Given the description of an element on the screen output the (x, y) to click on. 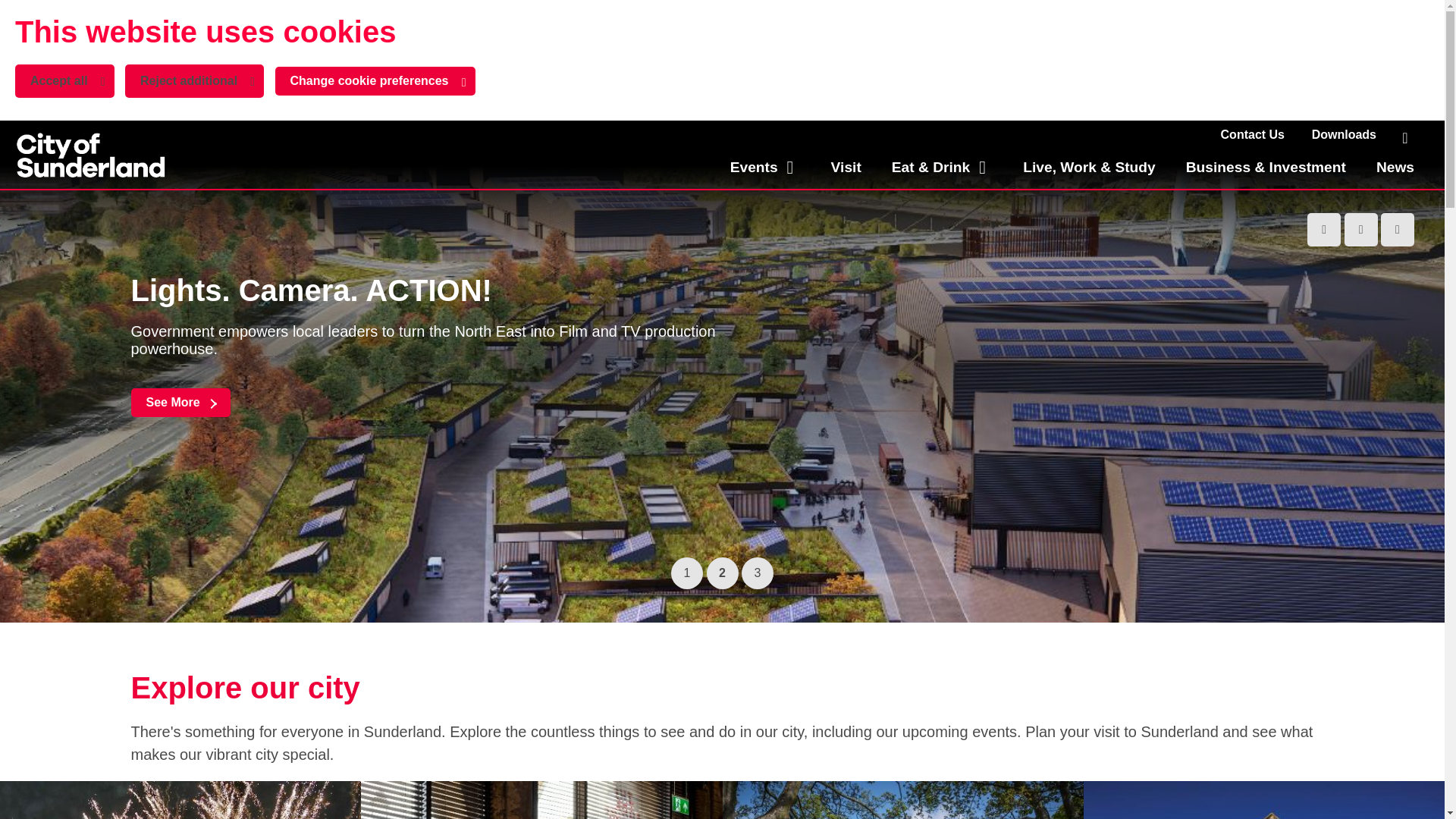
Lights. Camera. ACTION! (180, 402)
Downloads (1344, 135)
Accept all (64, 80)
Skip to main content (90, 154)
Contact Us (11, 11)
Change cookie preferences (1252, 135)
Events (375, 80)
Reject additional (765, 168)
